Given the description of an element on the screen output the (x, y) to click on. 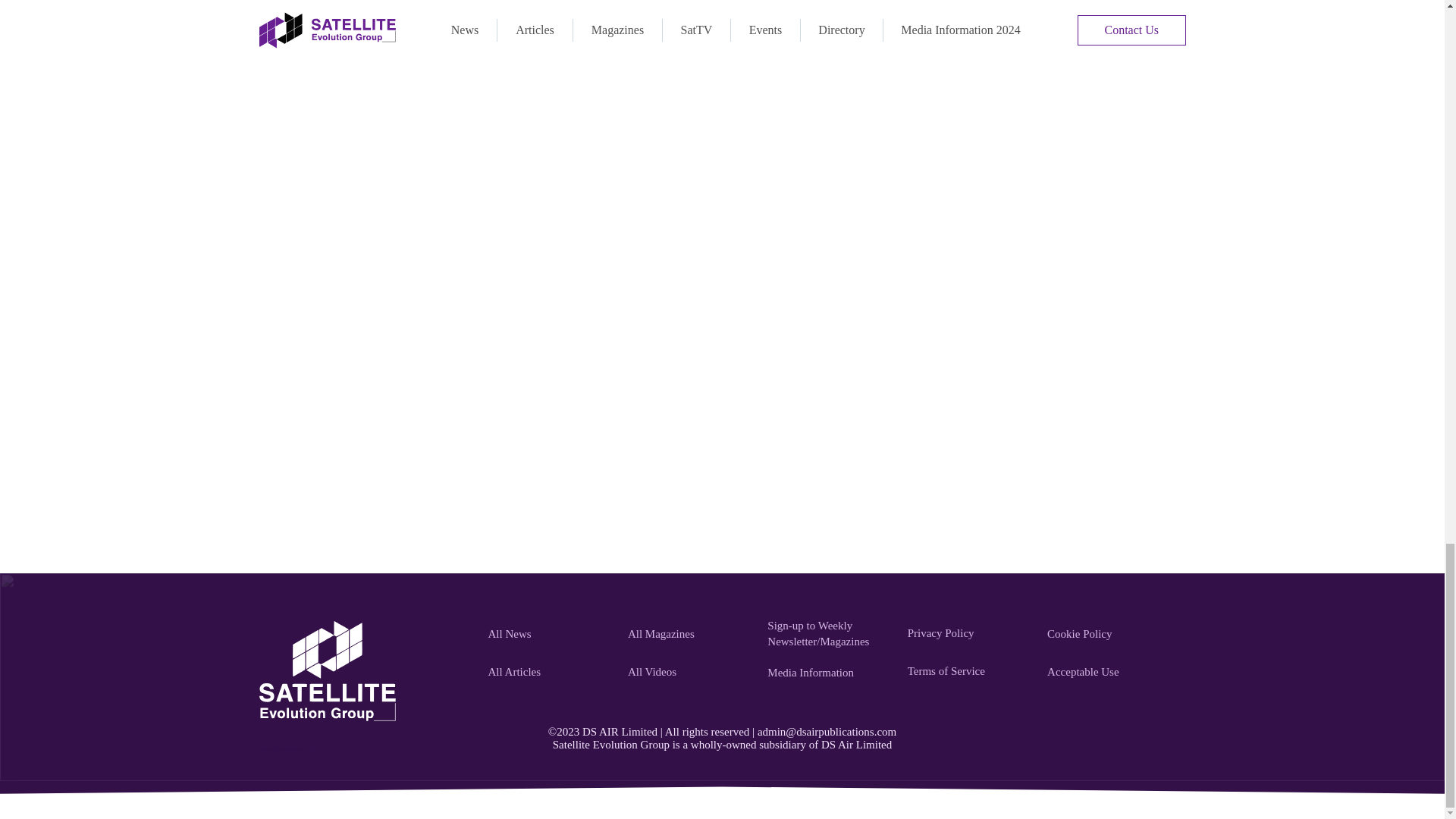
All Articles (549, 672)
All Magazines (689, 634)
All Videos (689, 672)
Cookie Policy (1108, 634)
Terms of Service (968, 671)
Privacy Policy (968, 633)
Media Information (828, 672)
All News (549, 634)
Acceptable Use (1108, 672)
